Given the description of an element on the screen output the (x, y) to click on. 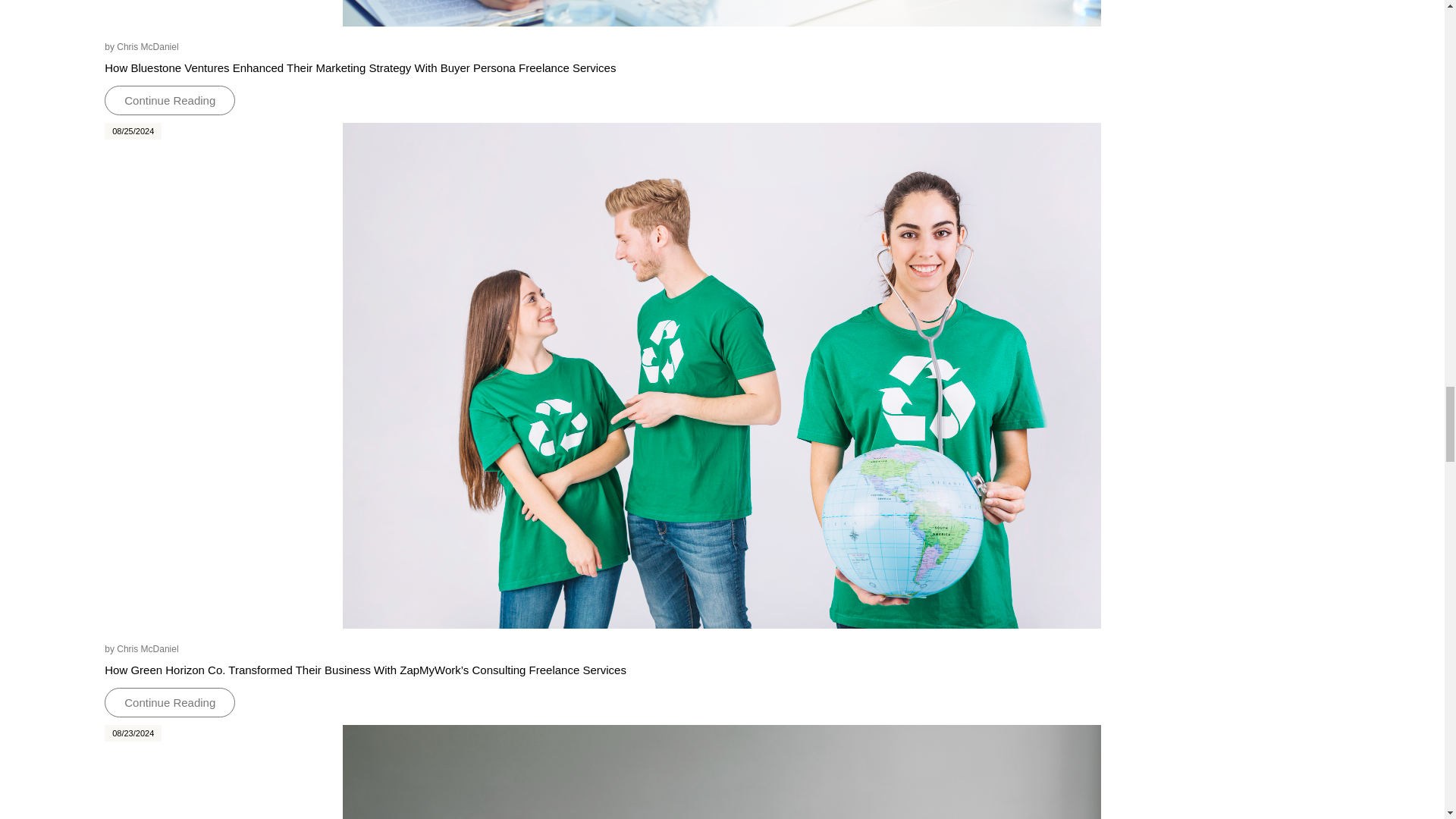
sustainable technology business (721, 771)
management consulting firm (721, 13)
